Given the description of an element on the screen output the (x, y) to click on. 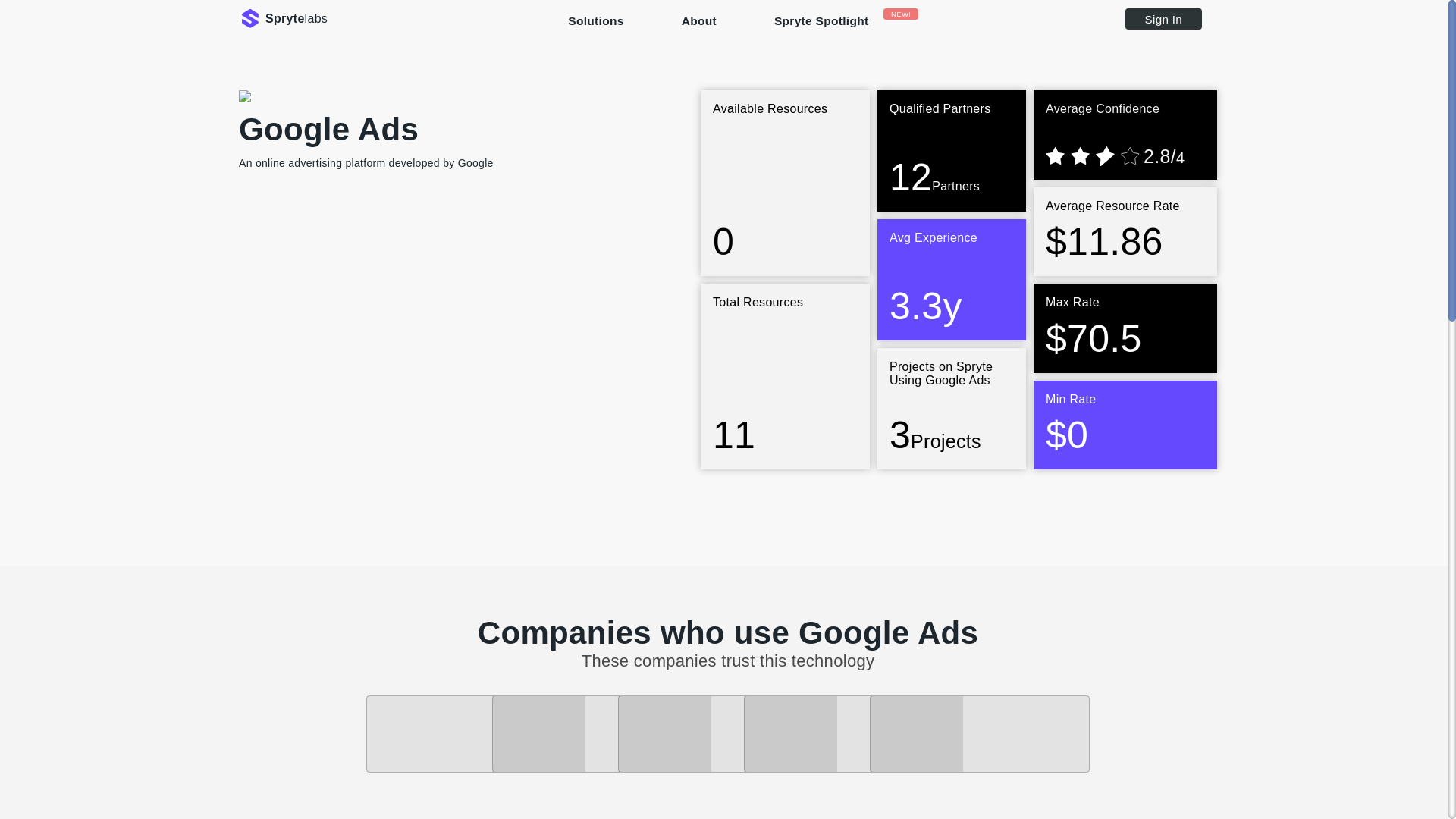
Sprytelabs (828, 27)
Sign In (282, 18)
